Given the description of an element on the screen output the (x, y) to click on. 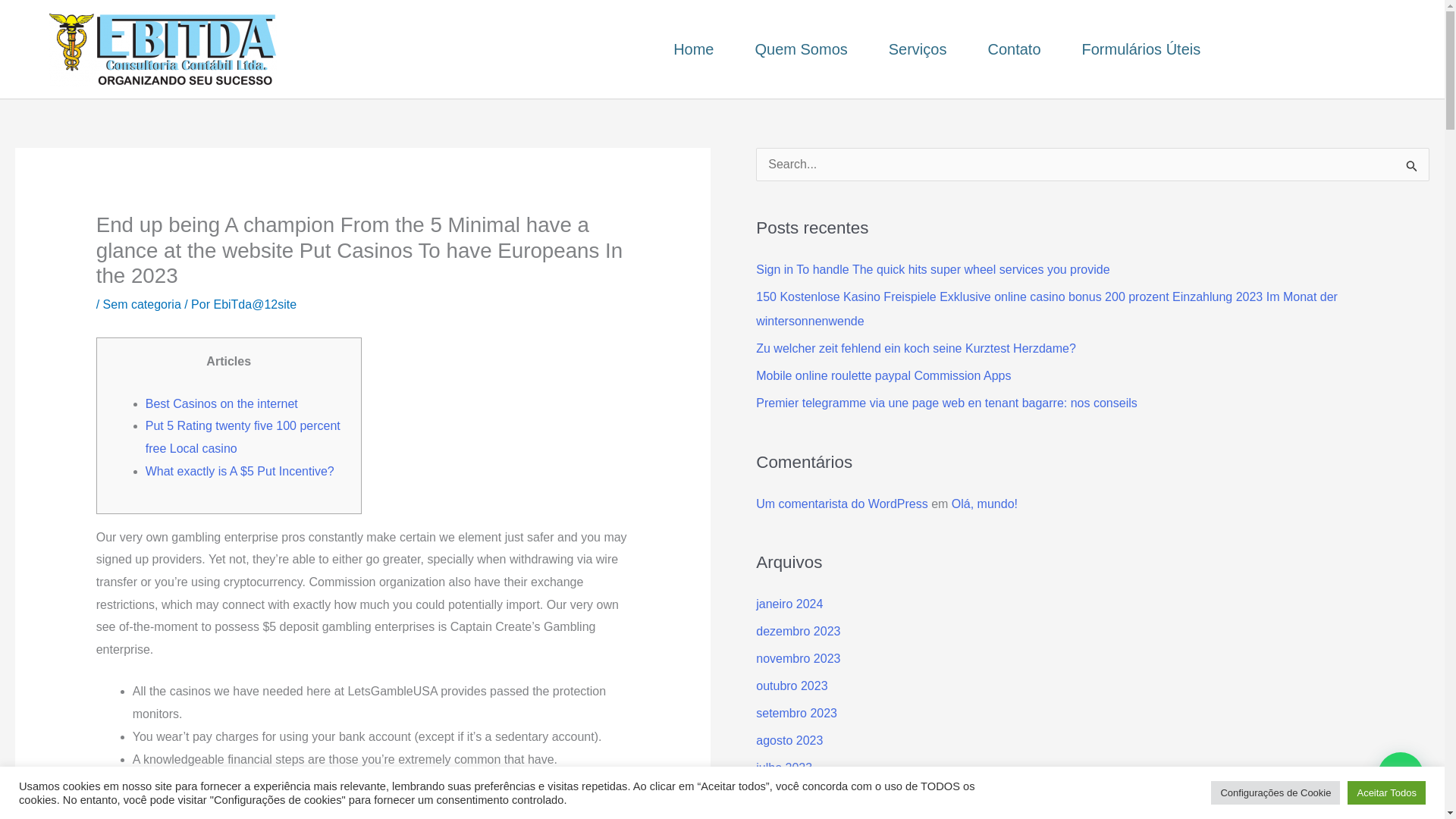
Contato (1013, 48)
Zu welcher zeit fehlend ein koch seine Kurztest Herzdame? (915, 348)
Pesquisar (1411, 169)
Best Casinos on the internet (221, 403)
Pesquisar (1411, 169)
Logo Ebitda (162, 48)
Quem Somos (800, 48)
setembro 2023 (796, 712)
Sem categoria (141, 304)
Home (692, 48)
agosto 2023 (788, 739)
novembro 2023 (797, 658)
outubro 2023 (791, 685)
